Given the description of an element on the screen output the (x, y) to click on. 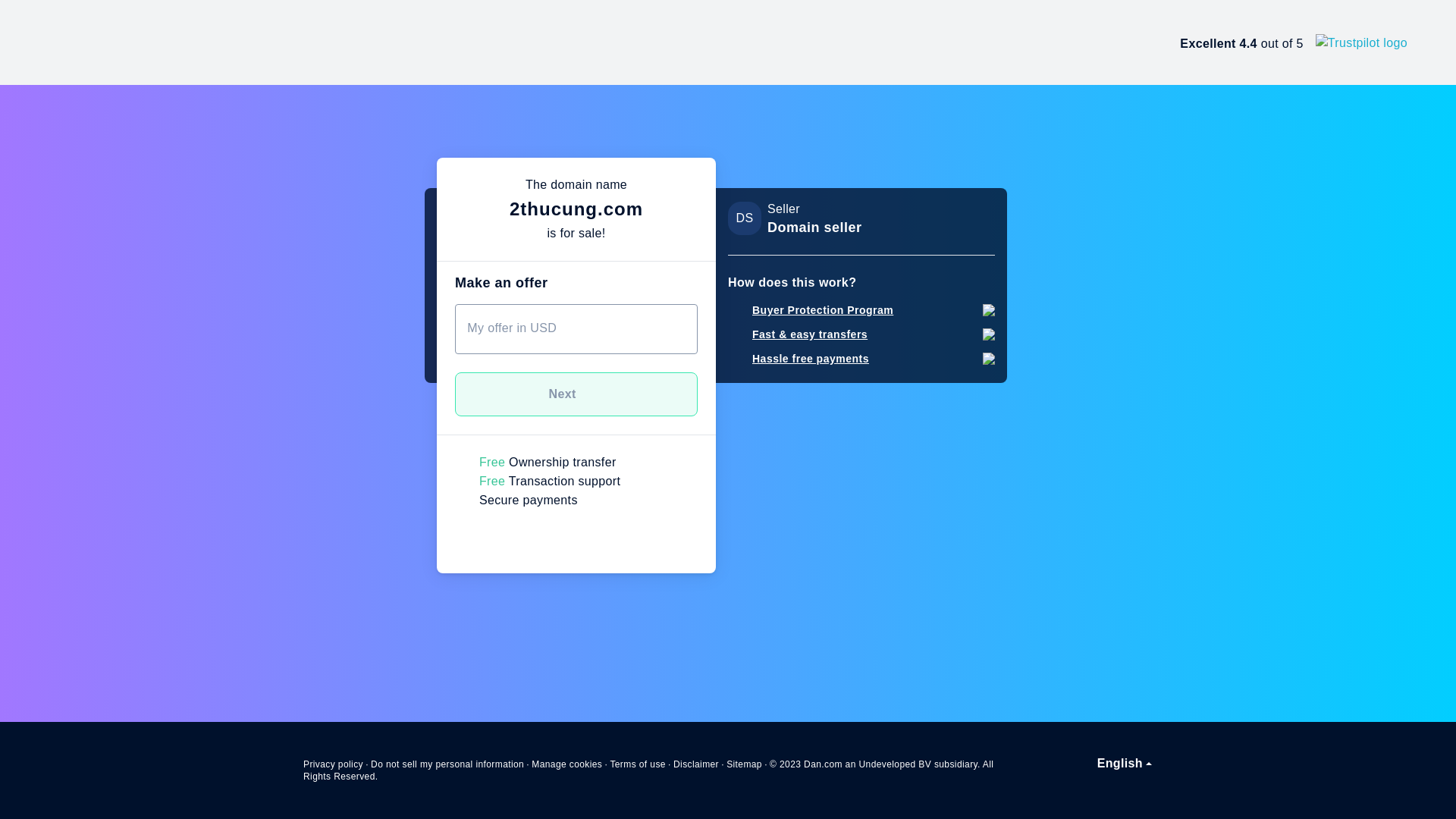
Sitemap Element type: text (744, 764)
Privacy policy Element type: text (333, 764)
Excellent 4.4 out of 5 Element type: text (1293, 42)
Manage cookies Element type: text (566, 764)
Disclaimer Element type: text (695, 764)
English Element type: text (1124, 763)
Terms of use Element type: text (637, 764)
Next
) Element type: text (576, 394)
Do not sell my personal information Element type: text (447, 764)
